Given the description of an element on the screen output the (x, y) to click on. 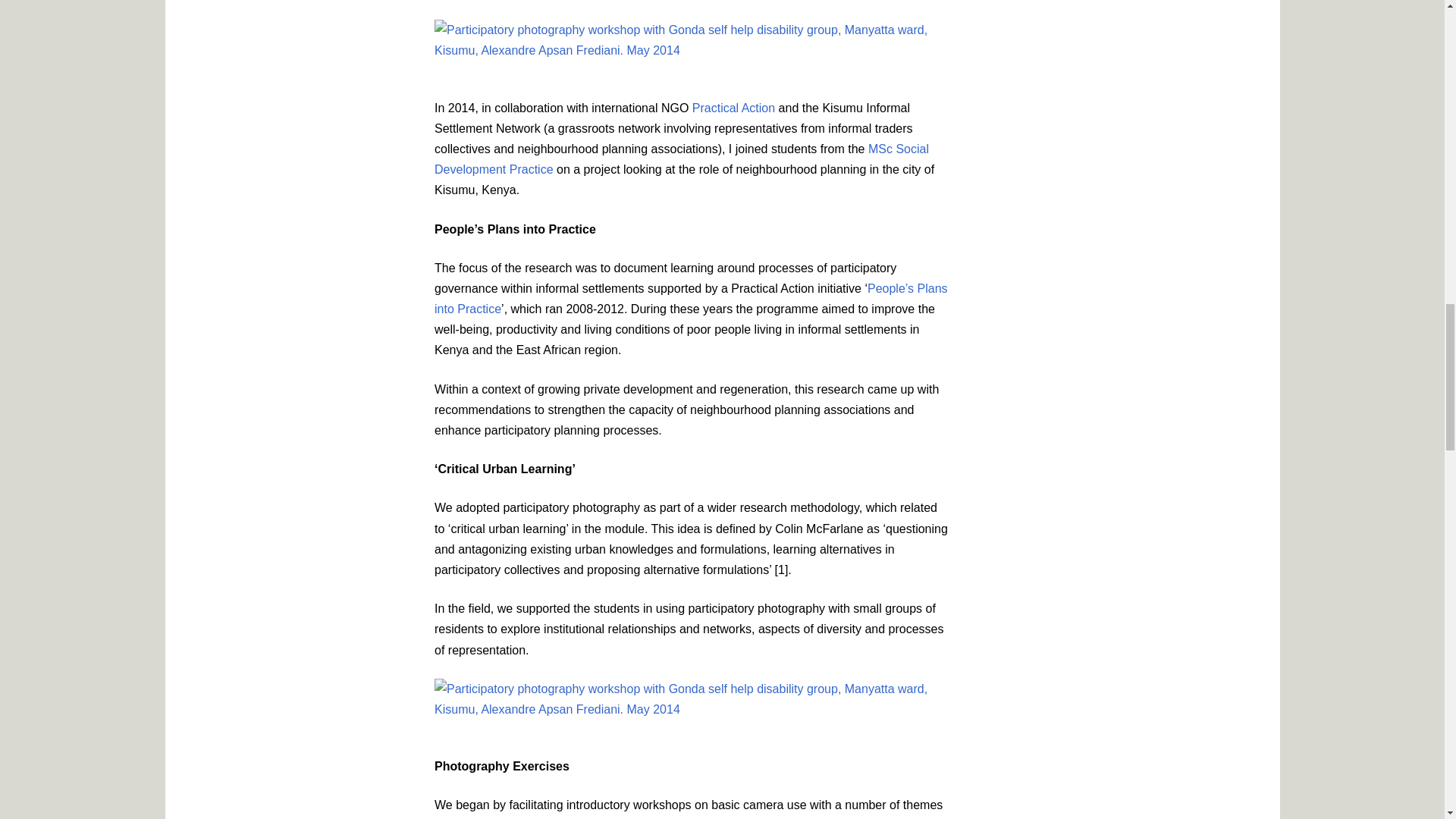
Practical Action website (733, 107)
